Given the description of an element on the screen output the (x, y) to click on. 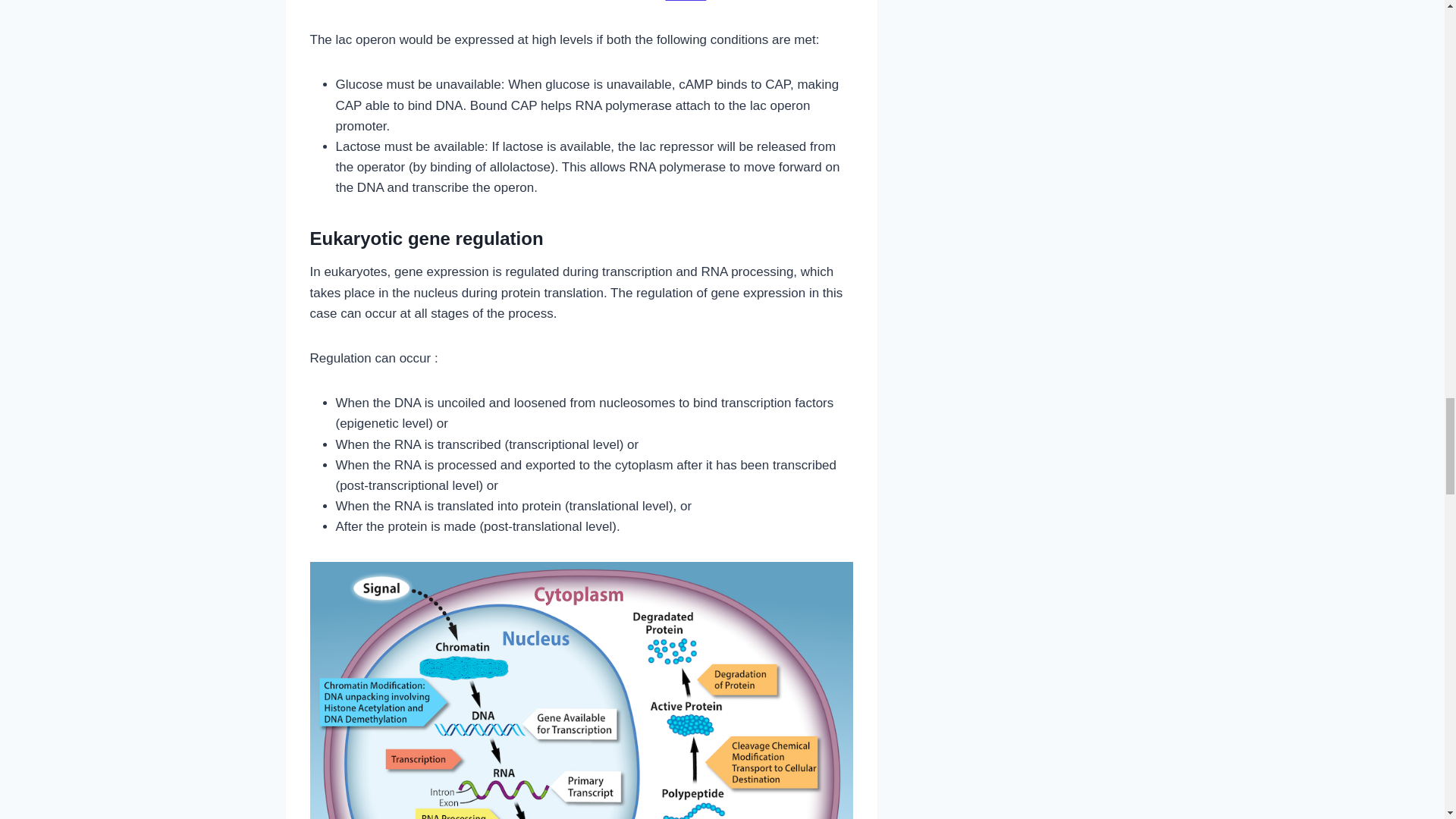
Source (685, 1)
